Given the description of an element on the screen output the (x, y) to click on. 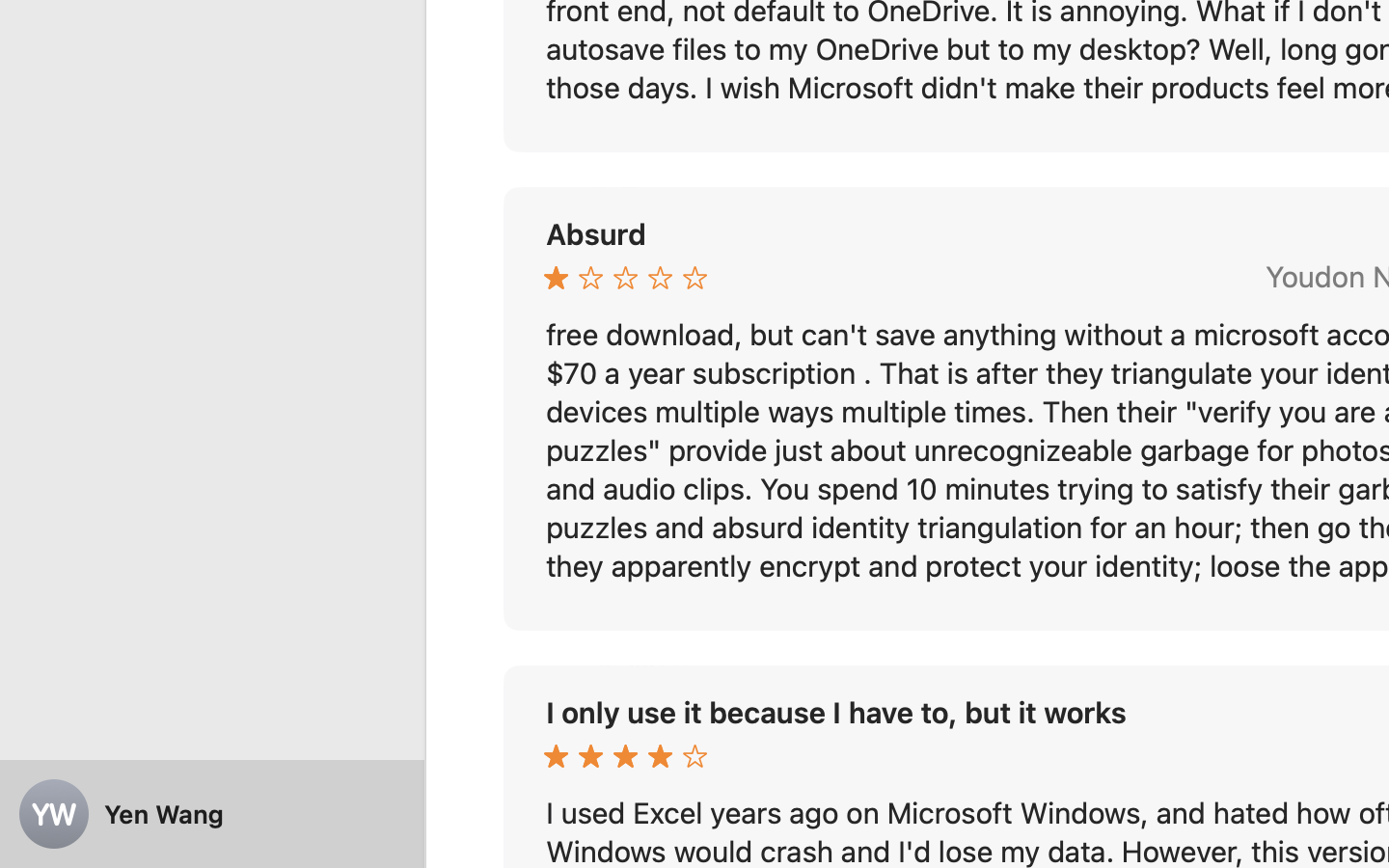
Yen Wang Element type: AXButton (212, 813)
